Given the description of an element on the screen output the (x, y) to click on. 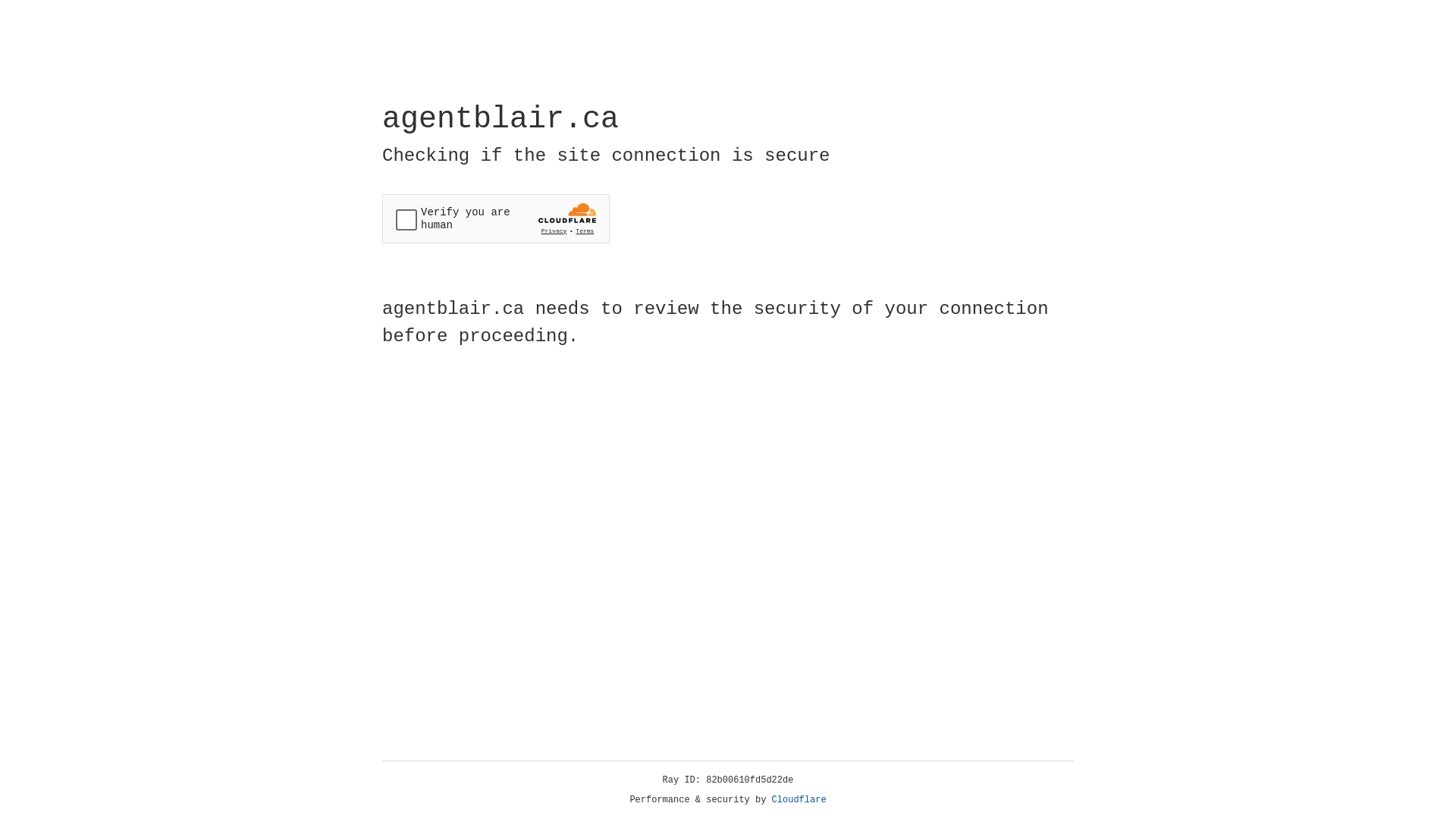
Cloudflare Element type: text (798, 799)
Widget containing a Cloudflare security challenge Element type: hover (495, 218)
